Given the description of an element on the screen output the (x, y) to click on. 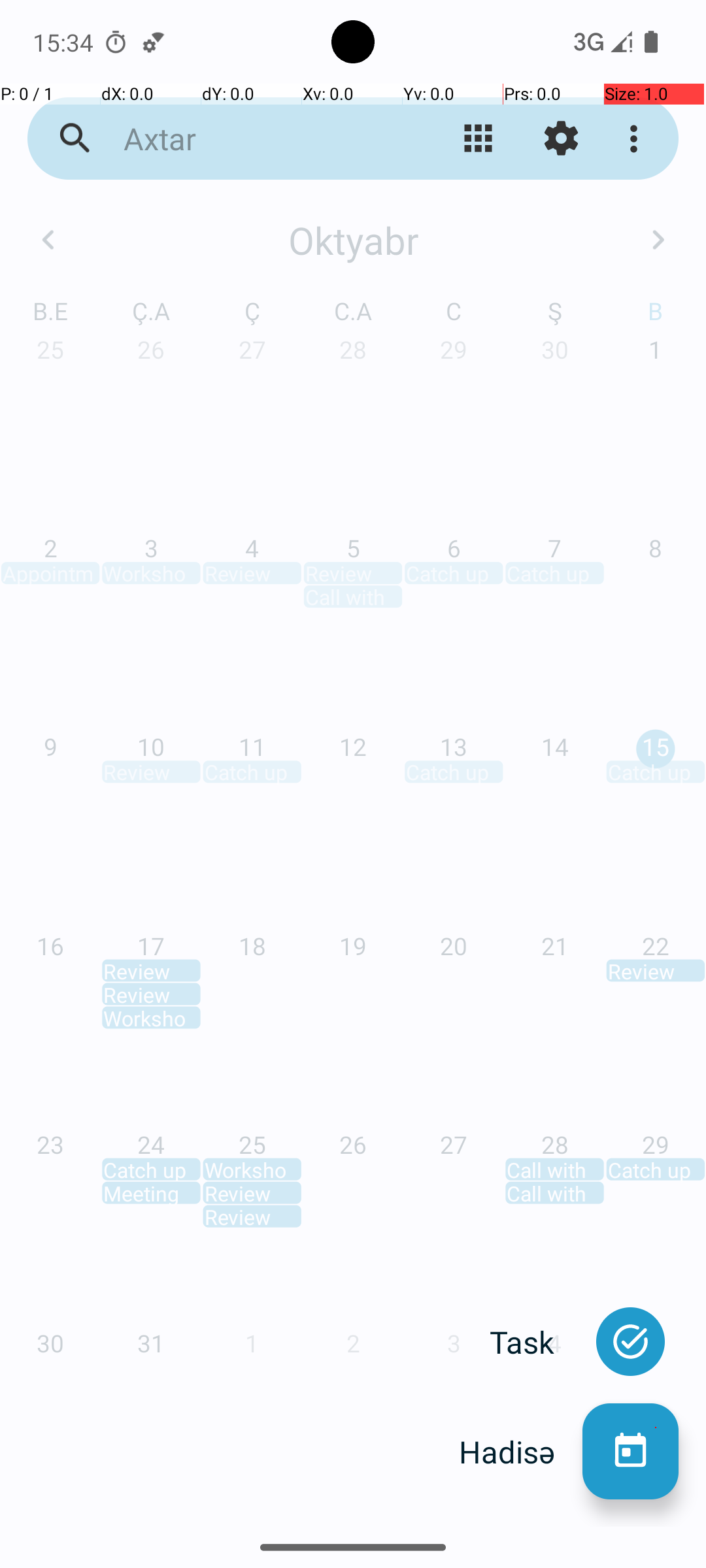
Axtar Element type: android.widget.EditText (252, 138)
Görünüşü dəyiş Element type: android.widget.Button (477, 138)
Parametrlər Element type: android.widget.Button (560, 138)
Digər seçimlər Element type: android.widget.ImageView (636, 138)
Hadisə Element type: android.widget.TextView (520, 1451)
Yeni Hadisə Element type: android.widget.ImageButton (630, 1451)
Oktyabr Element type: android.widget.TextView (352, 239)
